Given the description of an element on the screen output the (x, y) to click on. 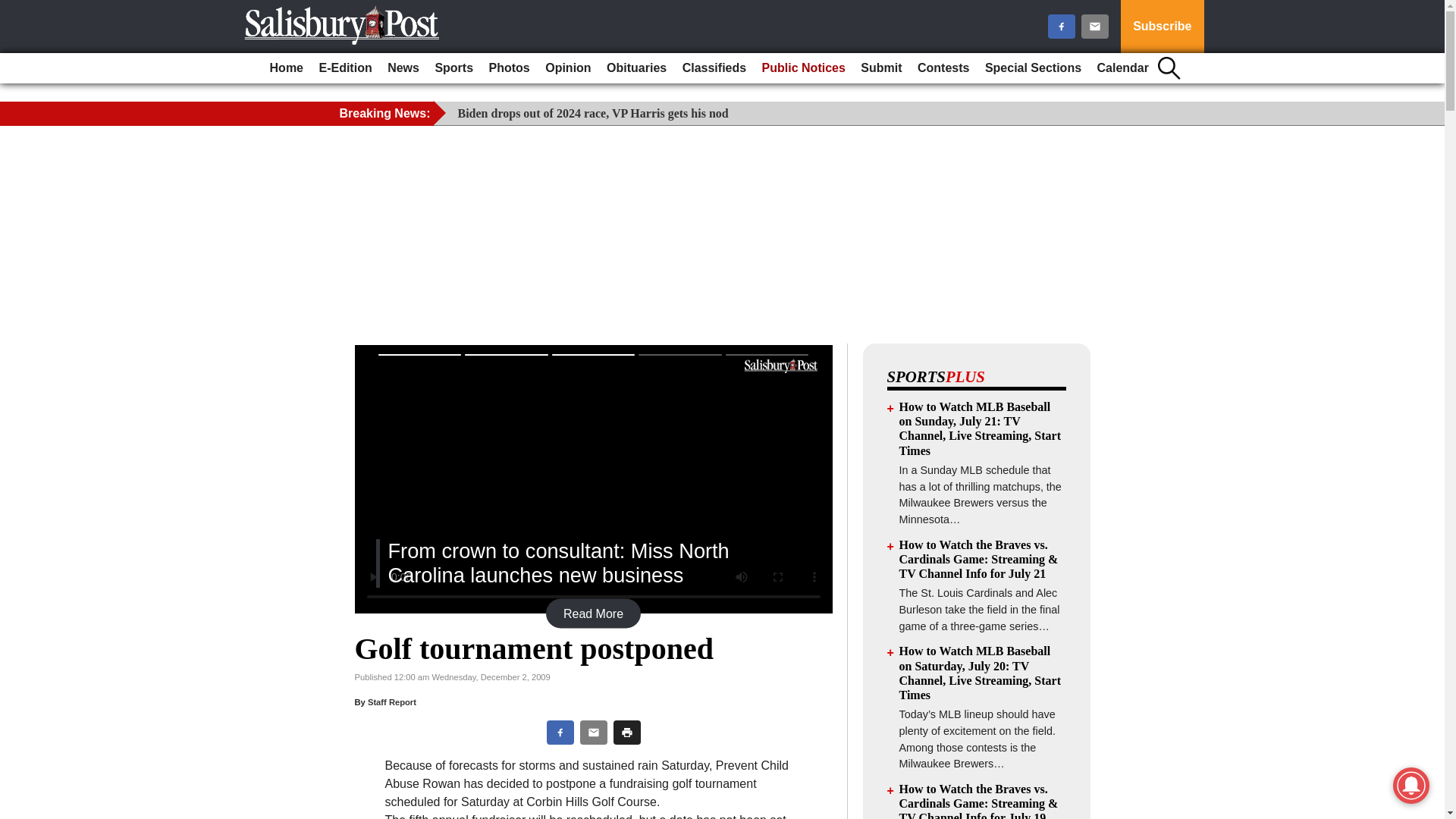
Special Sections (1032, 68)
Photos (509, 68)
Obituaries (635, 68)
News (403, 68)
Biden drops out of 2024 race, VP Harris gets his nod (593, 113)
Submit (880, 68)
E-Edition (345, 68)
Public Notices (803, 68)
Subscribe (1162, 26)
Contests (943, 68)
Opinion (567, 68)
